Given the description of an element on the screen output the (x, y) to click on. 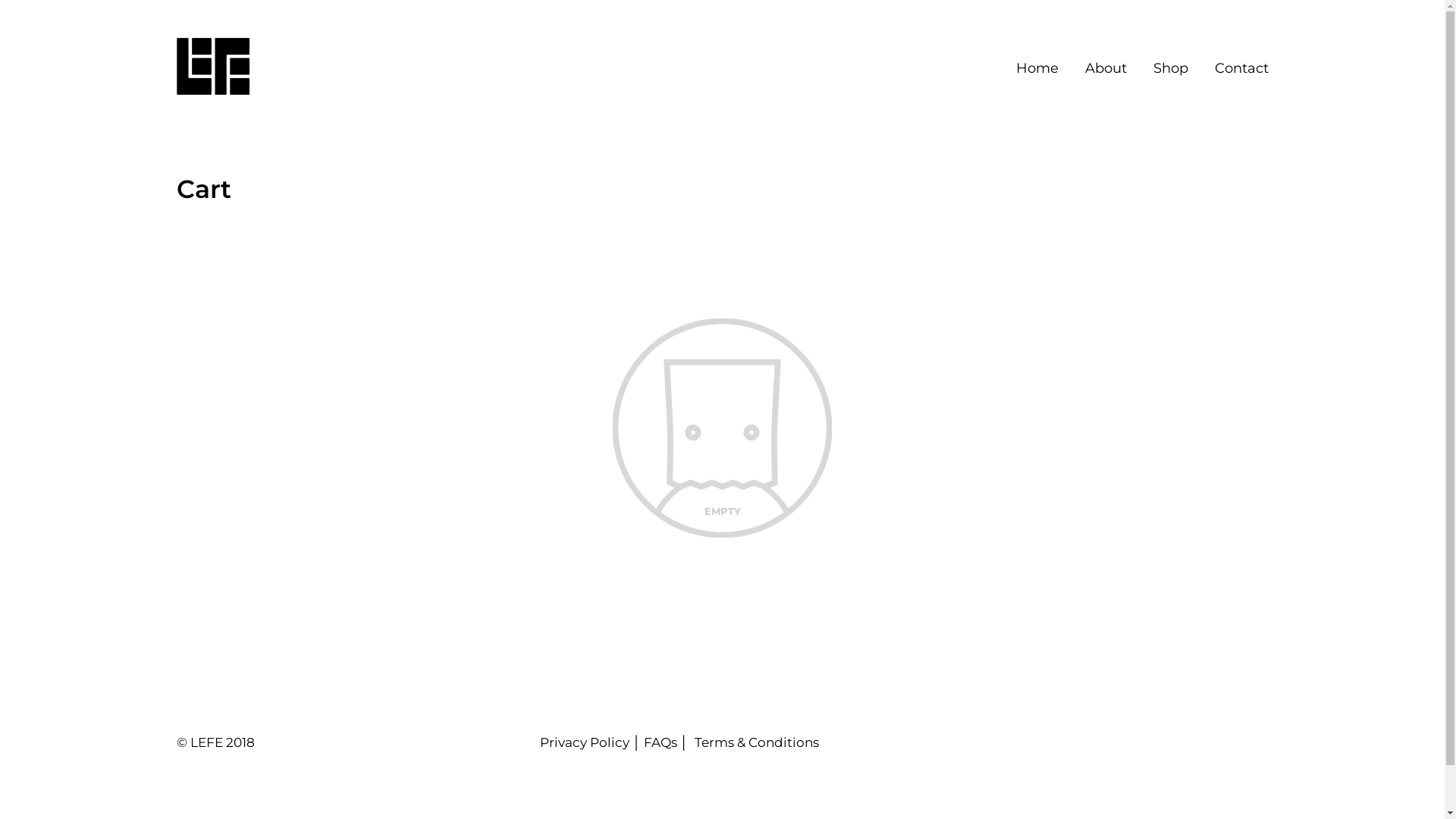
Shop Element type: text (1169, 67)
FAQs Element type: text (660, 742)
Privacy Policy Element type: text (584, 742)
Contact Element type: text (1241, 67)
Home Element type: text (1037, 67)
Terms & Conditions Element type: text (756, 742)
About Element type: text (1105, 67)
